Given the description of an element on the screen output the (x, y) to click on. 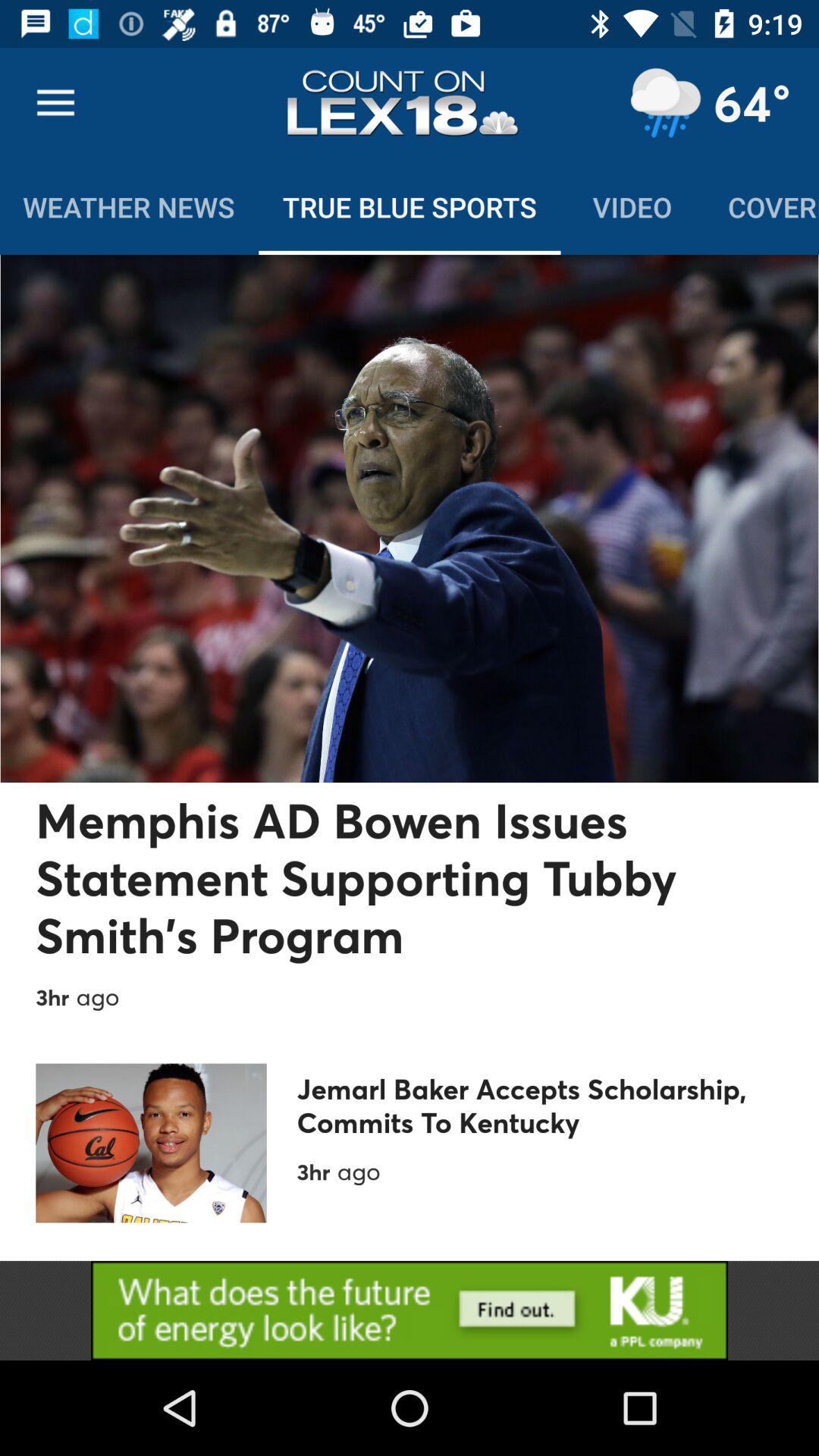
choose the selection (409, 1310)
